Given the description of an element on the screen output the (x, y) to click on. 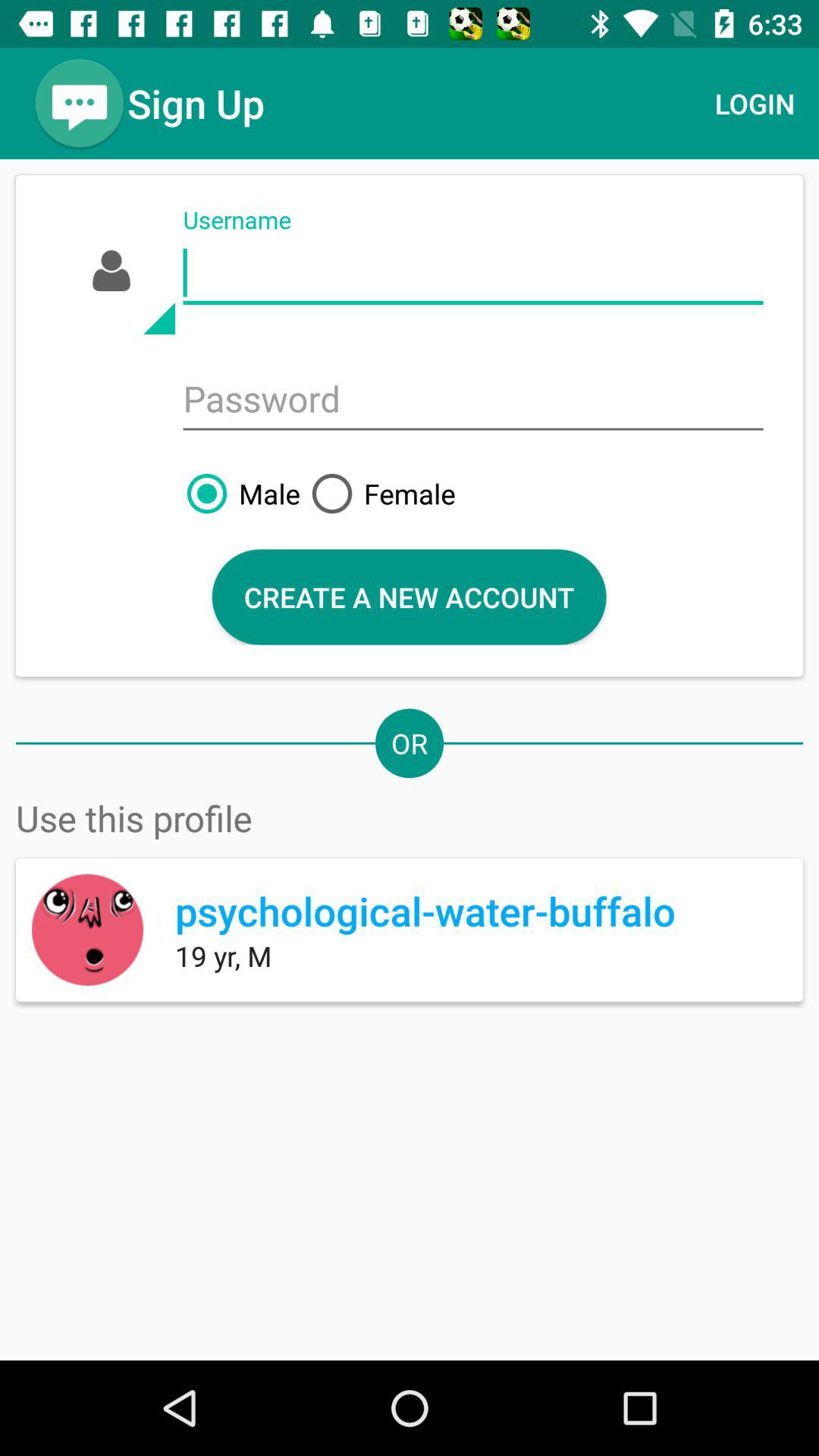
put in password (473, 400)
